Given the description of an element on the screen output the (x, y) to click on. 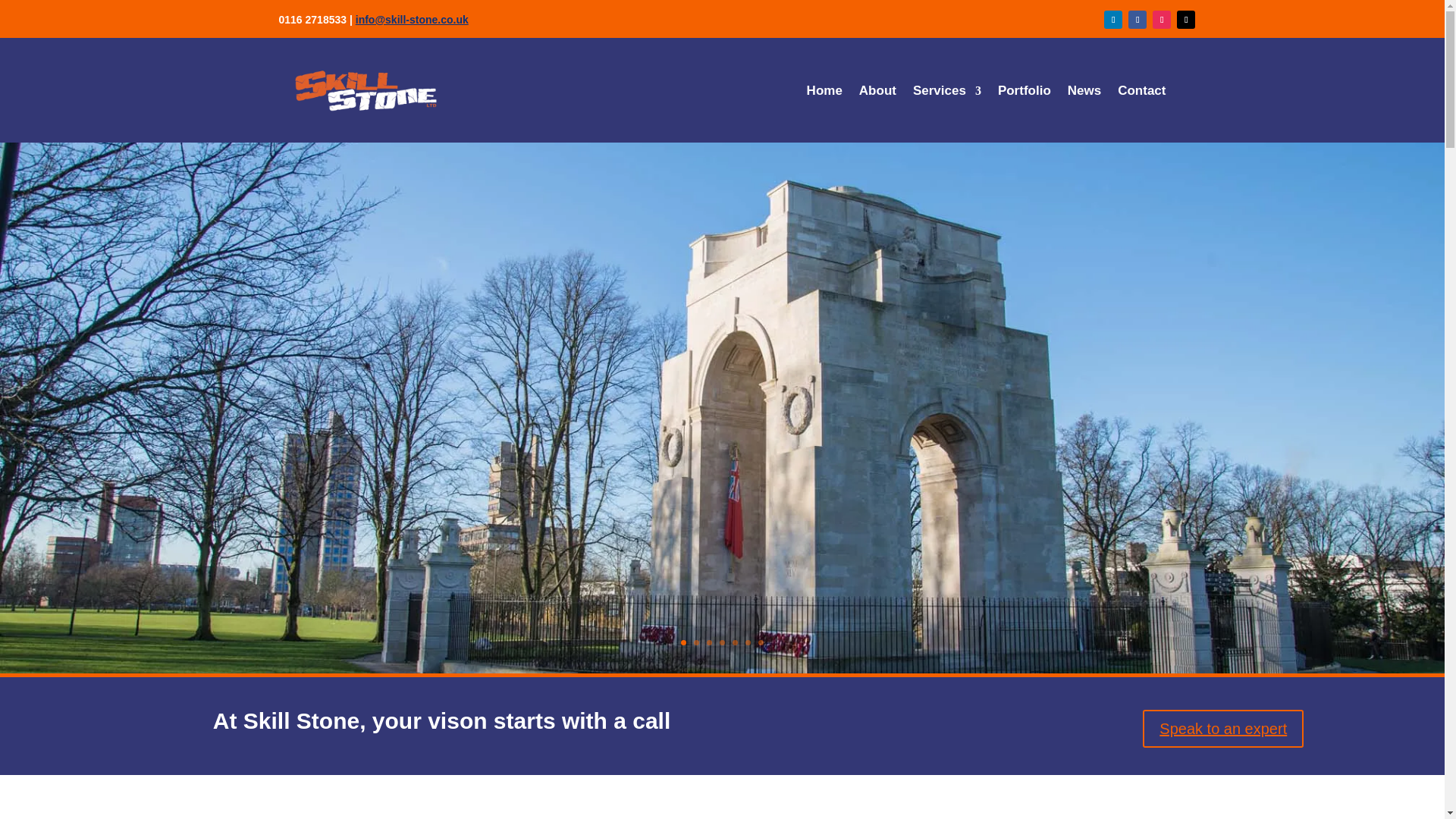
Follow on LinkedIn (1112, 19)
Follow on X (1185, 19)
Portfolio (1024, 93)
About (877, 93)
Follow on Instagram (1161, 19)
Services (946, 93)
News (1083, 93)
Contact (1142, 93)
Home (824, 93)
Skill Stone Logo (364, 89)
Follow on Facebook (1137, 19)
